Given the description of an element on the screen output the (x, y) to click on. 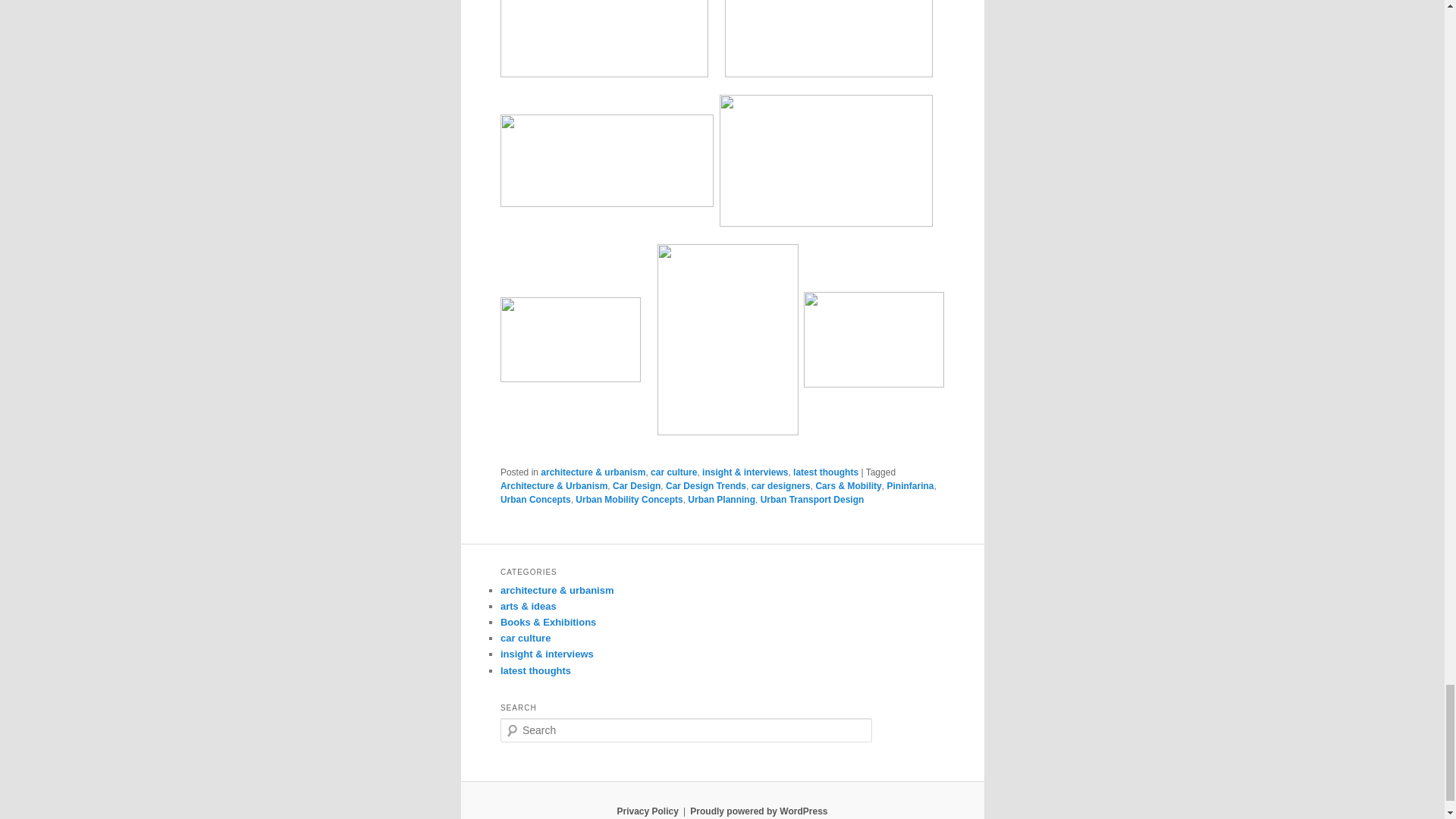
art, visual culture, creative reviews (528, 605)
Semantic Personal Publishing Platform (758, 810)
